Given the description of an element on the screen output the (x, y) to click on. 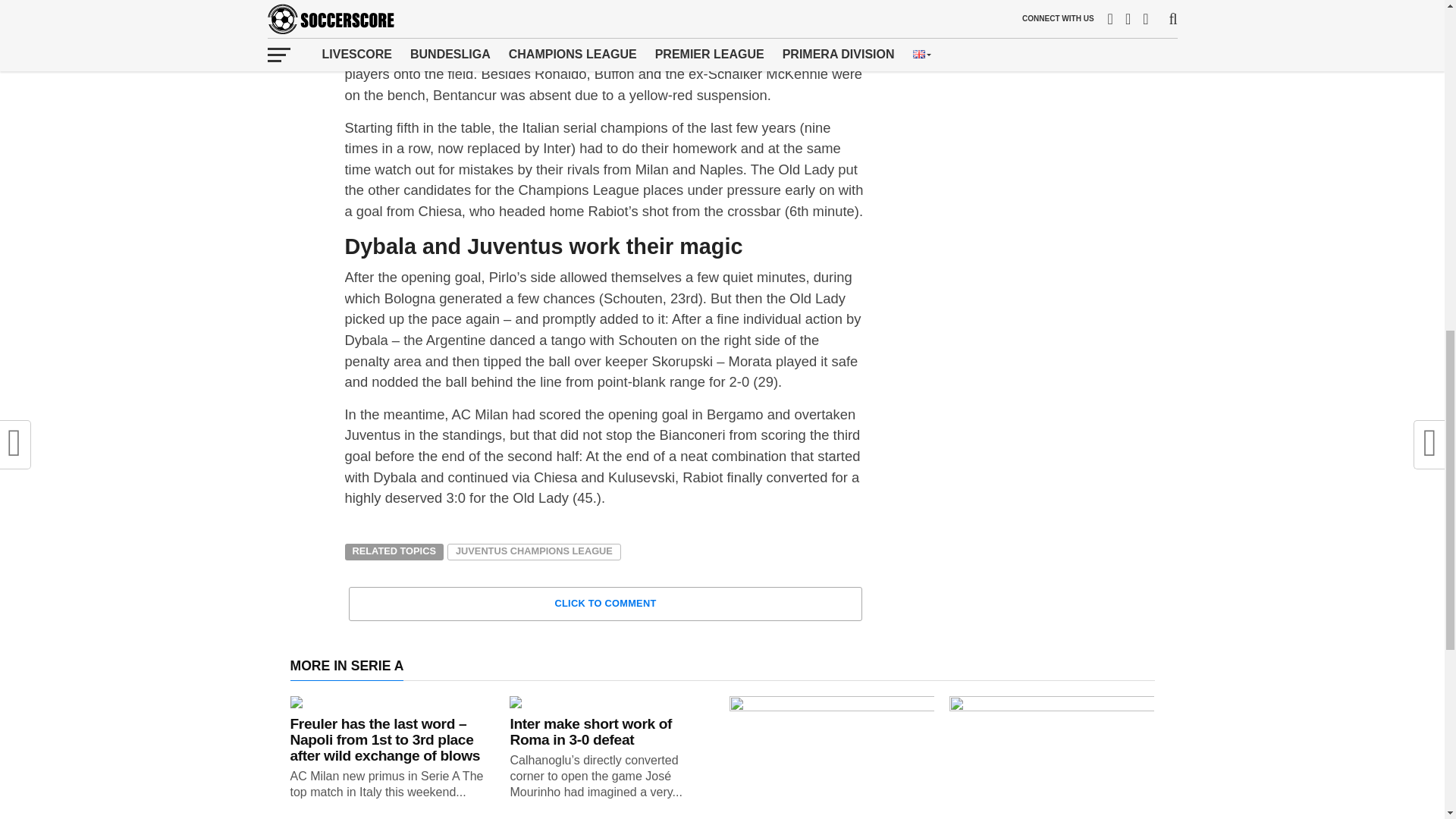
JUVENTUS CHAMPIONS LEAGUE (533, 551)
